Given the description of an element on the screen output the (x, y) to click on. 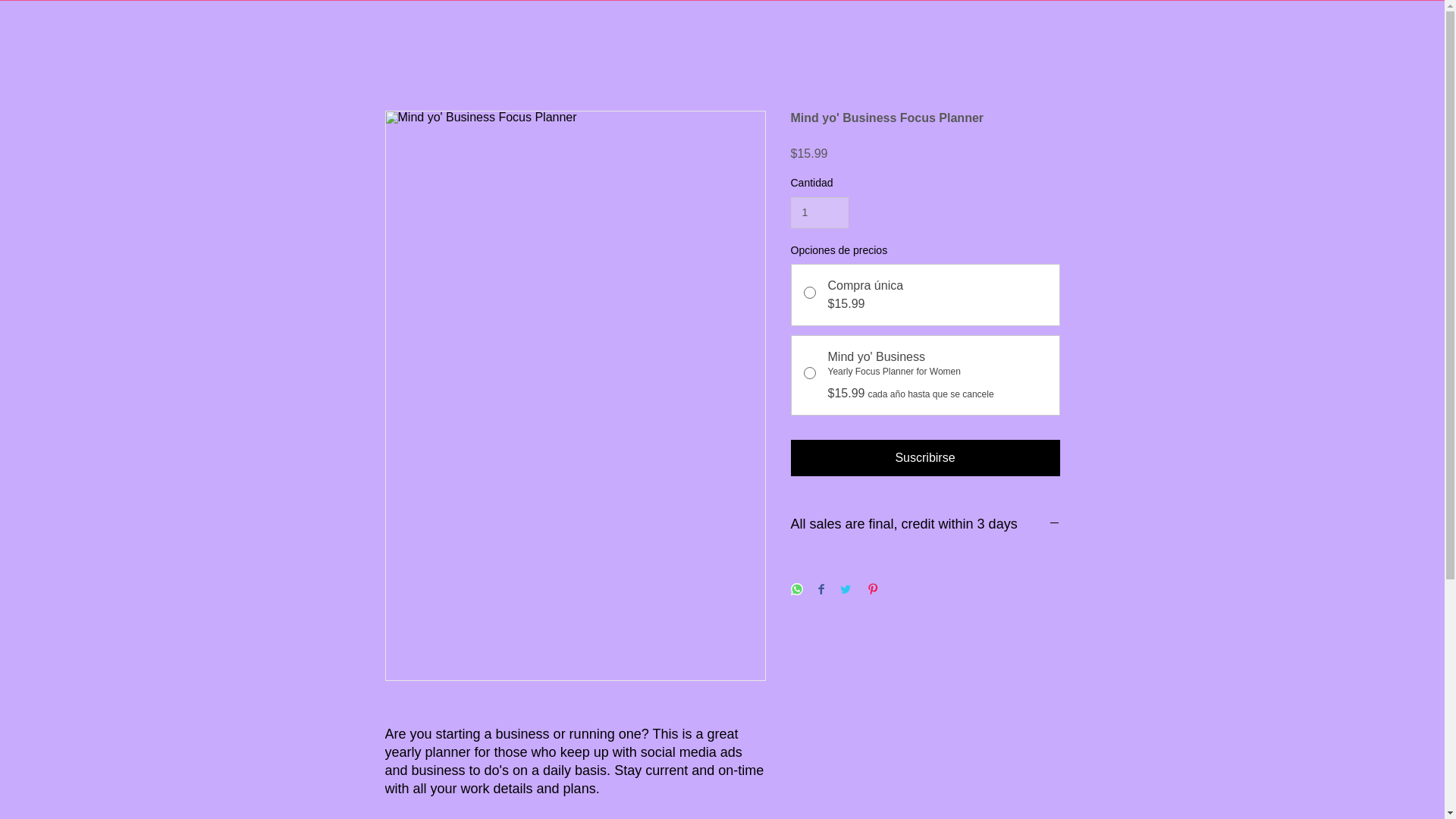
1 (818, 212)
All sales are final, credit within 3 days (924, 524)
Suscribirse (924, 457)
